Given the description of an element on the screen output the (x, y) to click on. 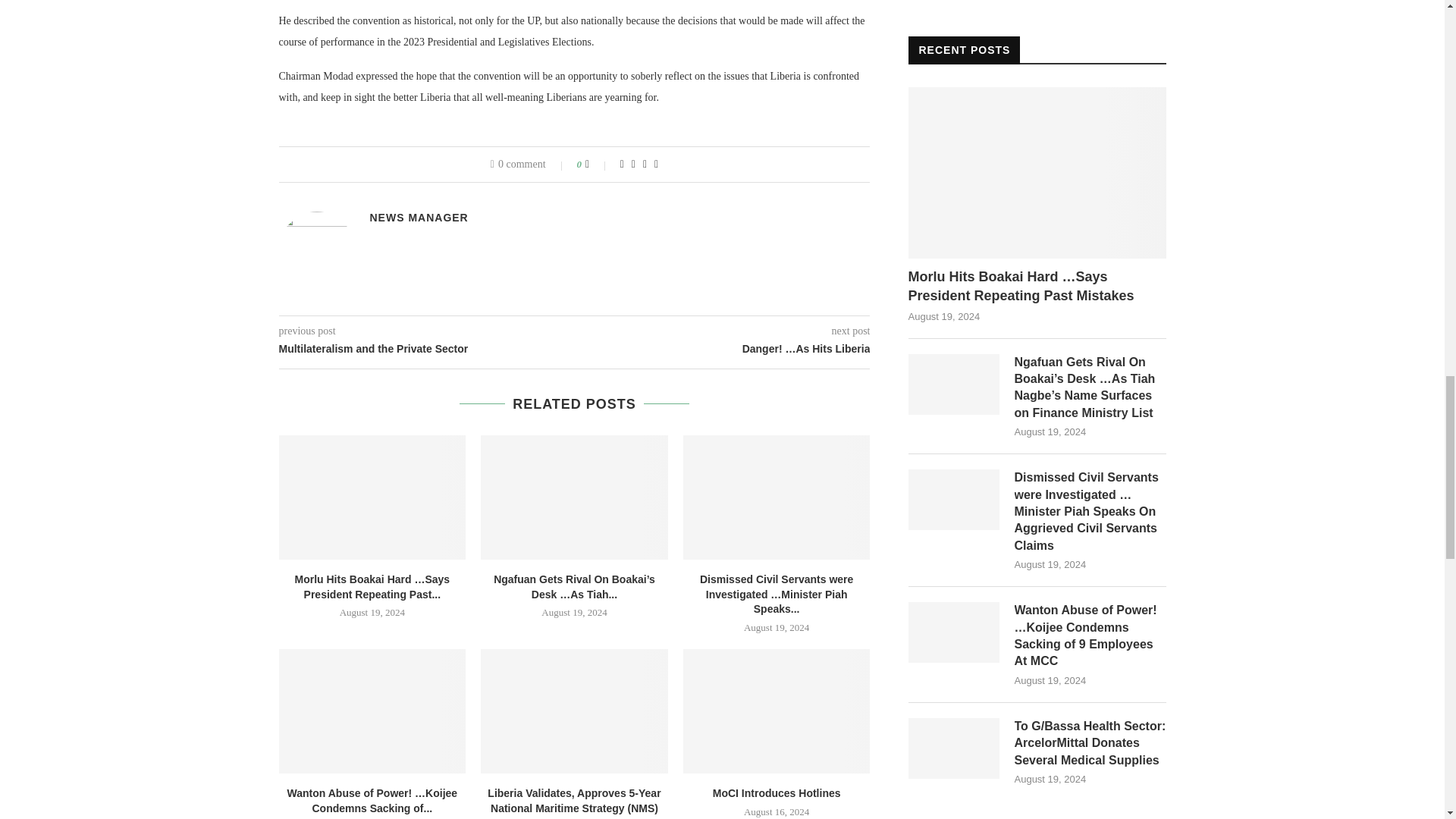
MoCI Introduces Hotlines (776, 711)
Like (597, 164)
Posts by News Manager (418, 217)
